Given the description of an element on the screen output the (x, y) to click on. 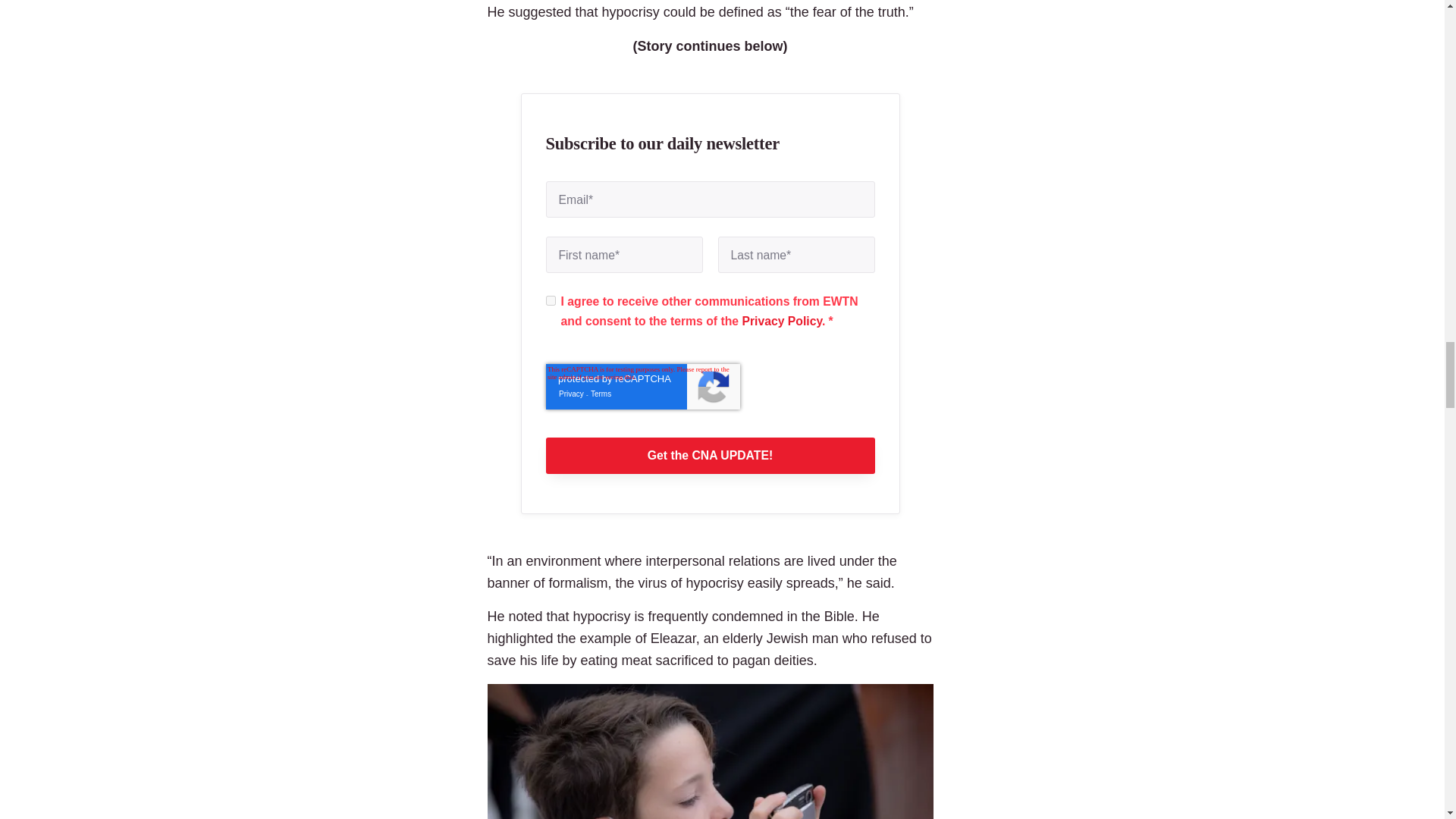
true (551, 300)
reCAPTCHA (642, 386)
Get the CNA UPDATE! (710, 455)
